Given the description of an element on the screen output the (x, y) to click on. 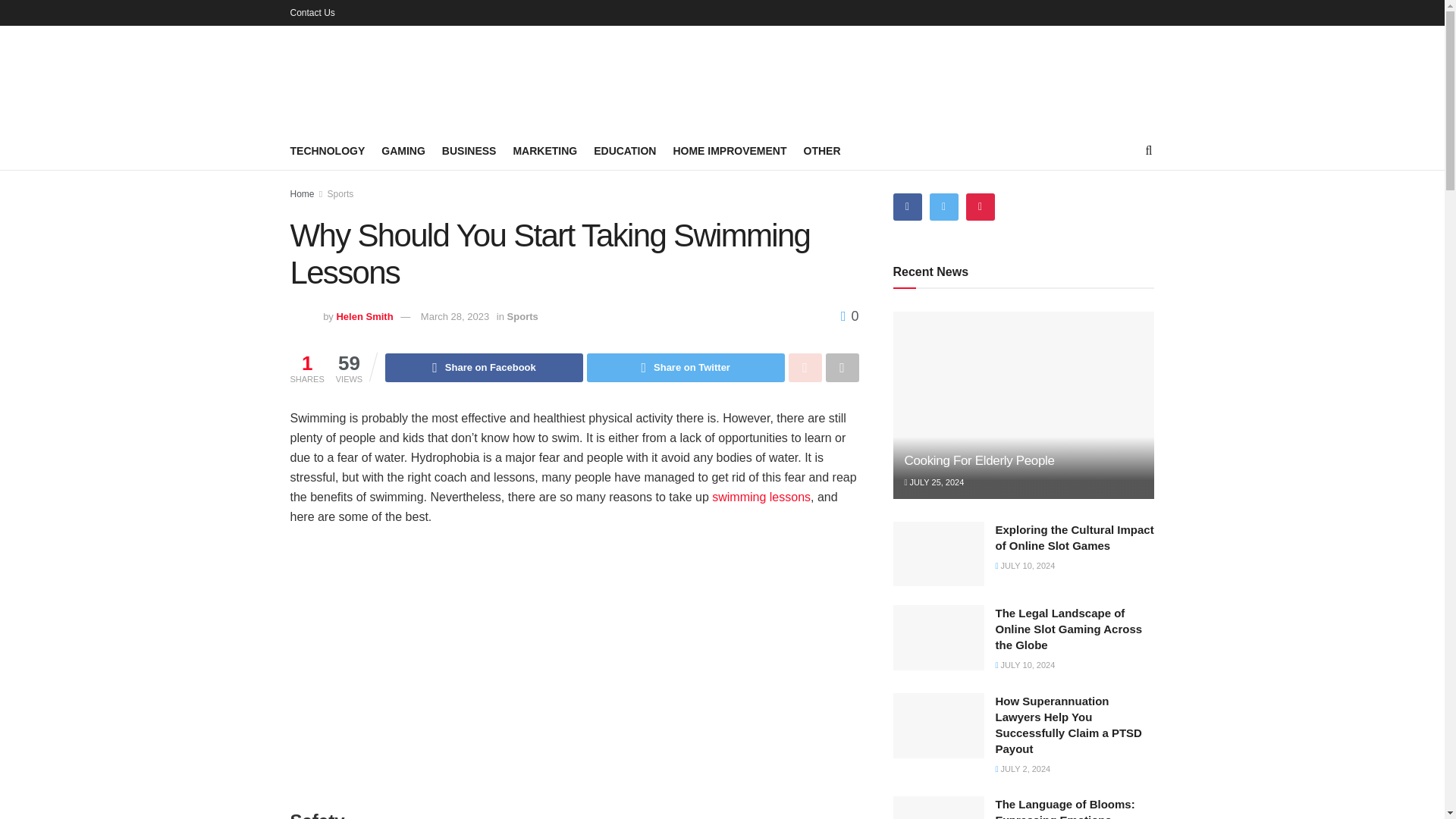
Contact Us (311, 12)
TECHNOLOGY (327, 150)
BUSINESS (469, 150)
MARKETING (544, 150)
OTHER (822, 150)
GAMING (403, 150)
HOME IMPROVEMENT (729, 150)
EDUCATION (625, 150)
